Given the description of an element on the screen output the (x, y) to click on. 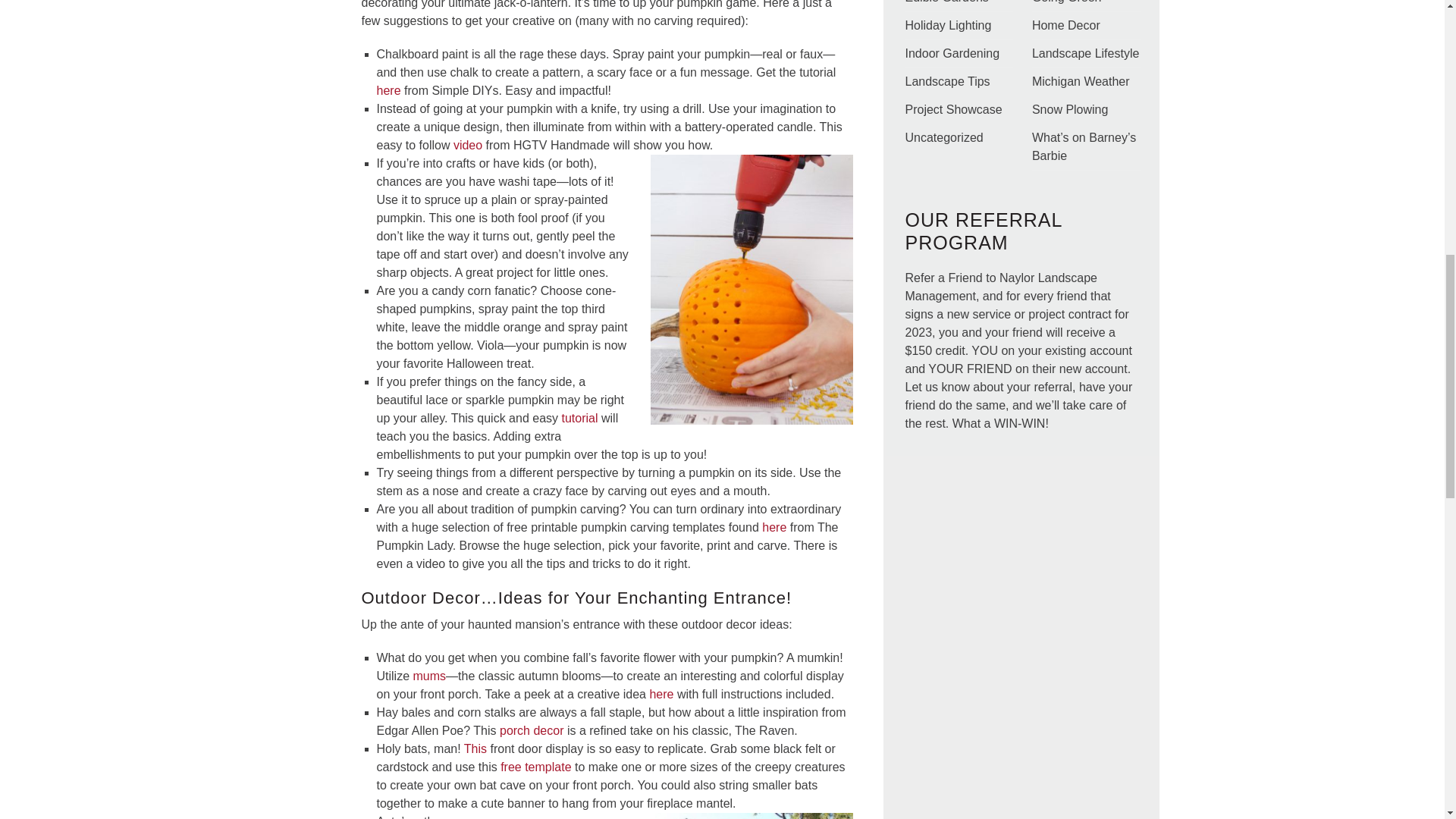
mums (429, 675)
here (387, 90)
video (466, 144)
tutorial (578, 418)
here (773, 526)
